Given the description of an element on the screen output the (x, y) to click on. 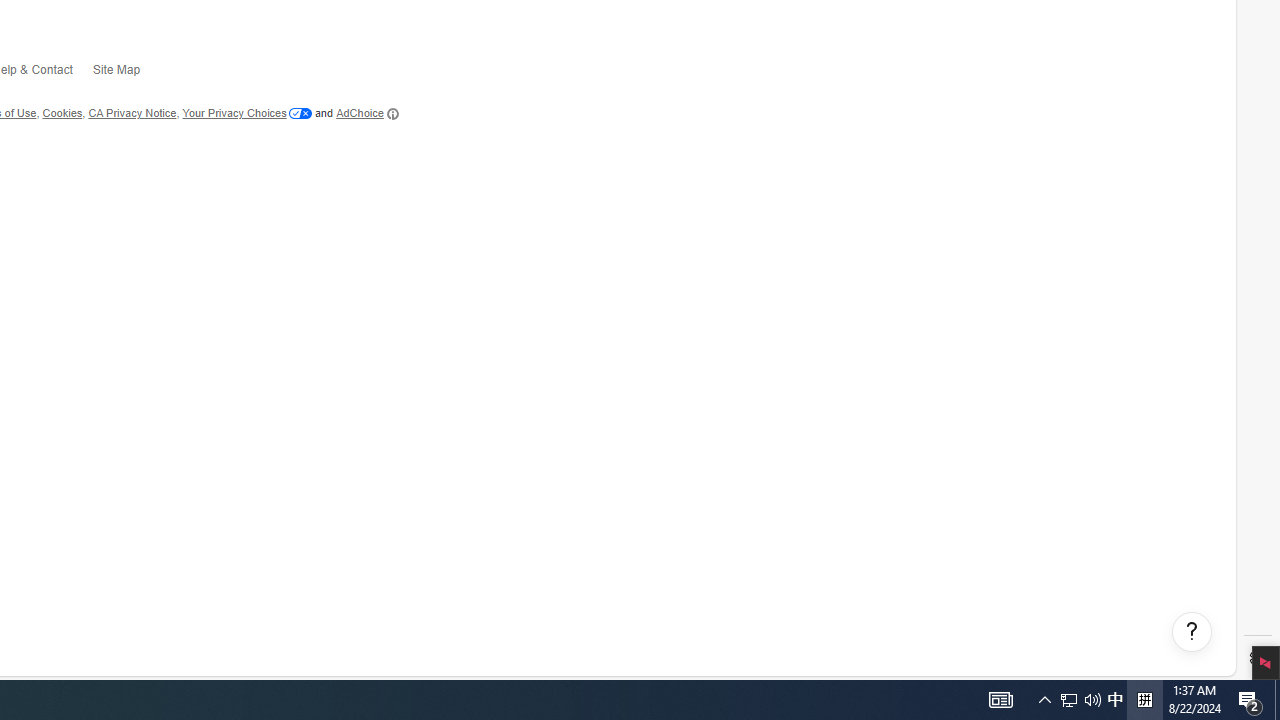
Site Map (126, 74)
Your Privacy Choices (246, 113)
Help, opens dialogs (1191, 632)
Cookies (62, 113)
Site Map (126, 73)
CA Privacy Notice (132, 113)
AdChoice (367, 113)
